Given the description of an element on the screen output the (x, y) to click on. 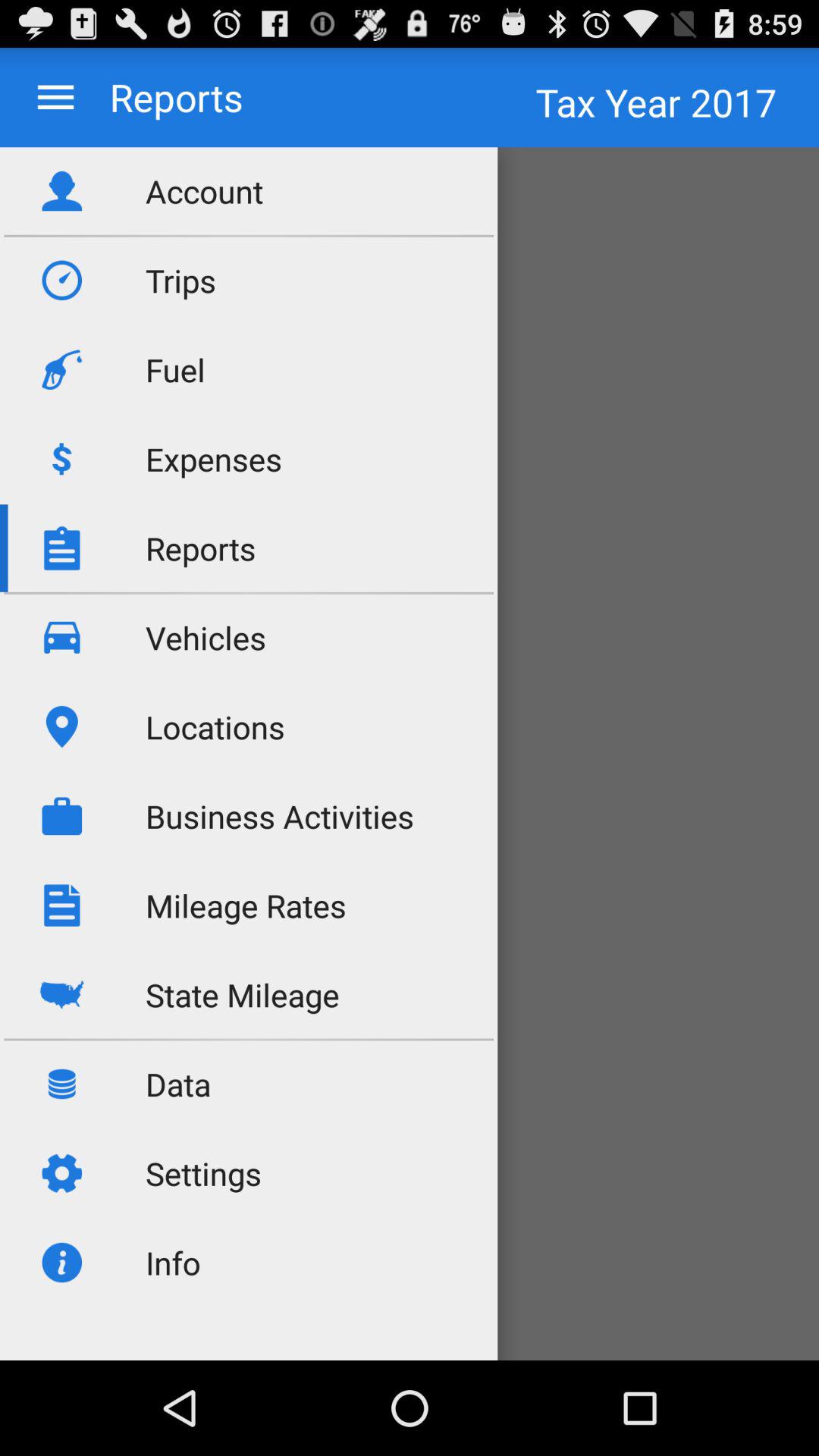
turn off the data app (178, 1083)
